Given the description of an element on the screen output the (x, y) to click on. 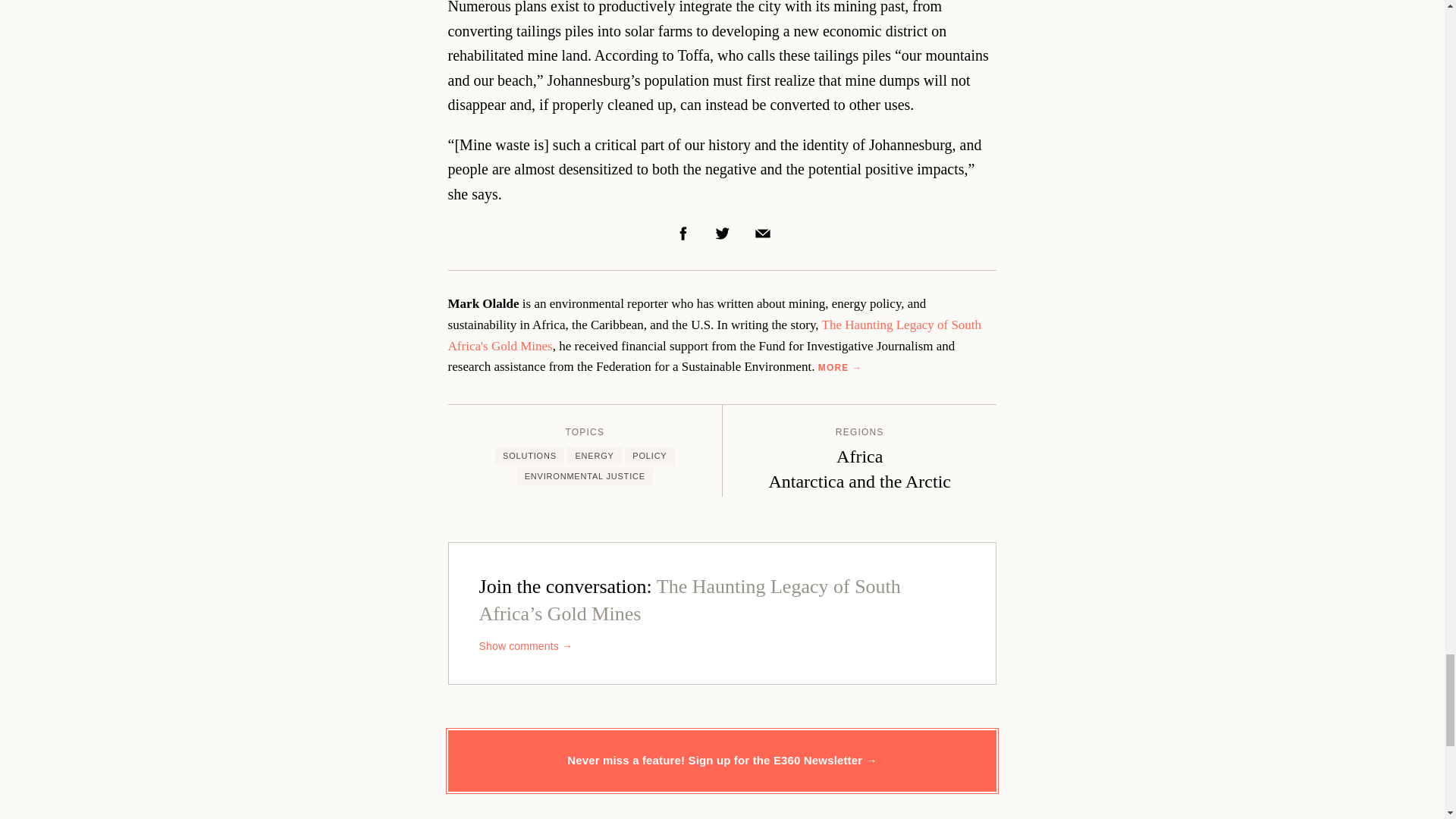
Facebook (683, 233)
ENERGY (594, 456)
SOLUTIONS (529, 456)
Email (762, 233)
Twitter (722, 233)
The Haunting Legacy of South Africa's Gold Mines (714, 334)
ENVIRONMENTAL JUSTICE (584, 476)
Antarctica and the Arctic (859, 481)
Africa (858, 456)
POLICY (649, 456)
